Given the description of an element on the screen output the (x, y) to click on. 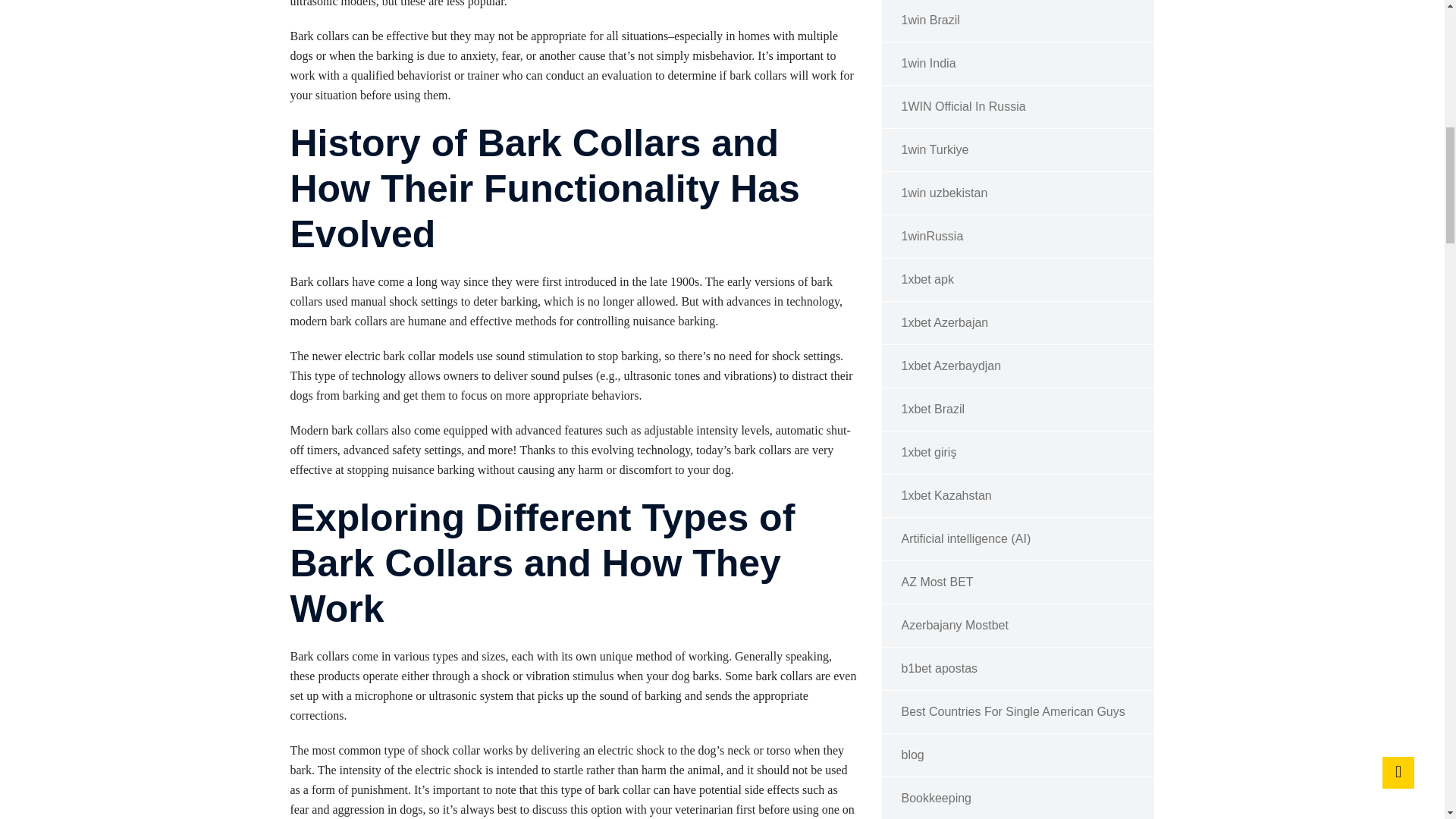
1WIN Official In Russia (1017, 106)
1win India (1017, 63)
1win Turkiye (1017, 149)
1xbet apk (1017, 280)
1xbet Azerbajan (1017, 323)
1win uzbekistan (1017, 193)
1xbet Brazil (1017, 409)
1winRussia (1017, 236)
1xbet Azerbaydjan (1017, 366)
1win Brazil (1017, 21)
